Given the description of an element on the screen output the (x, y) to click on. 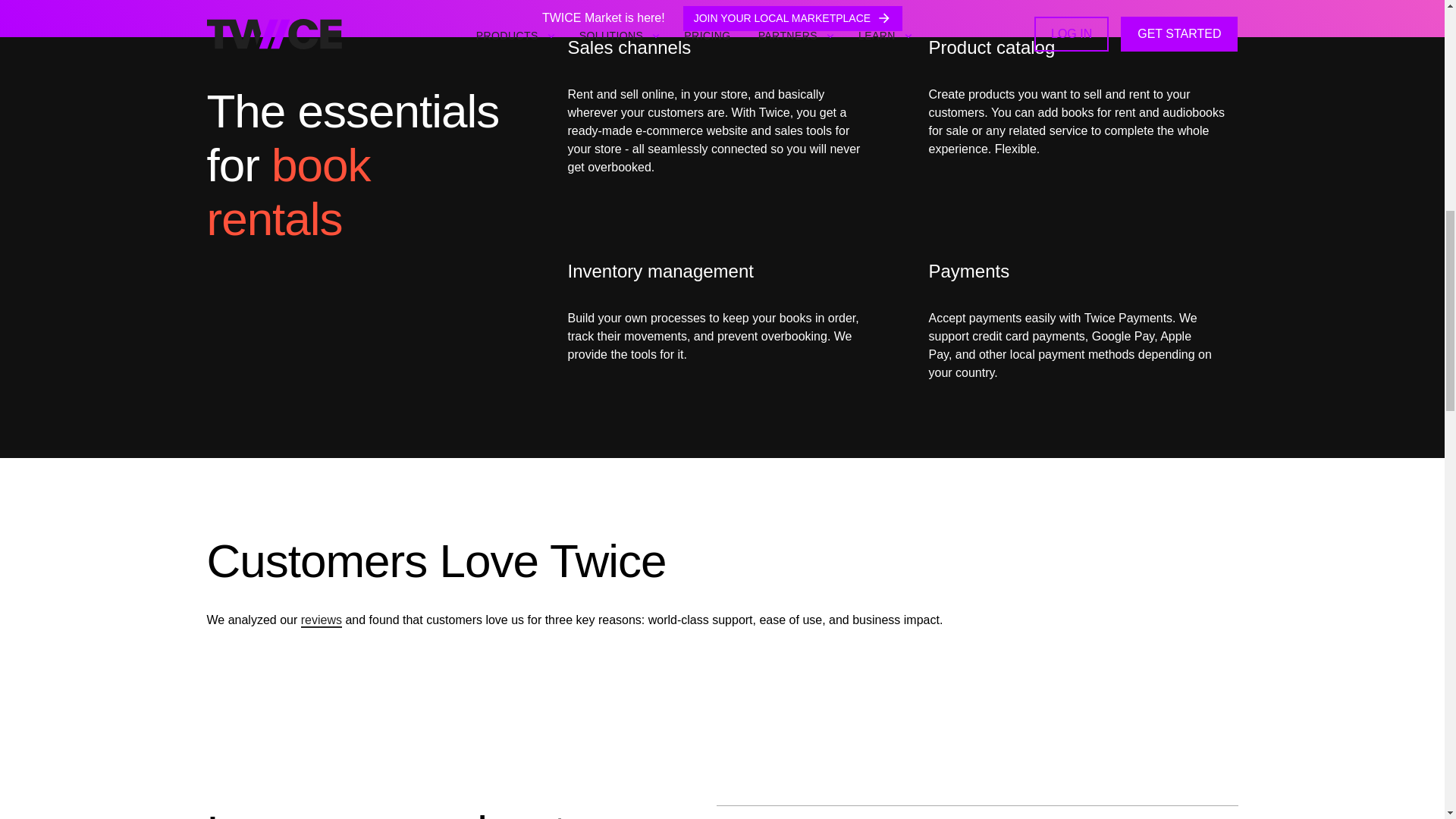
reviews (321, 620)
